Given the description of an element on the screen output the (x, y) to click on. 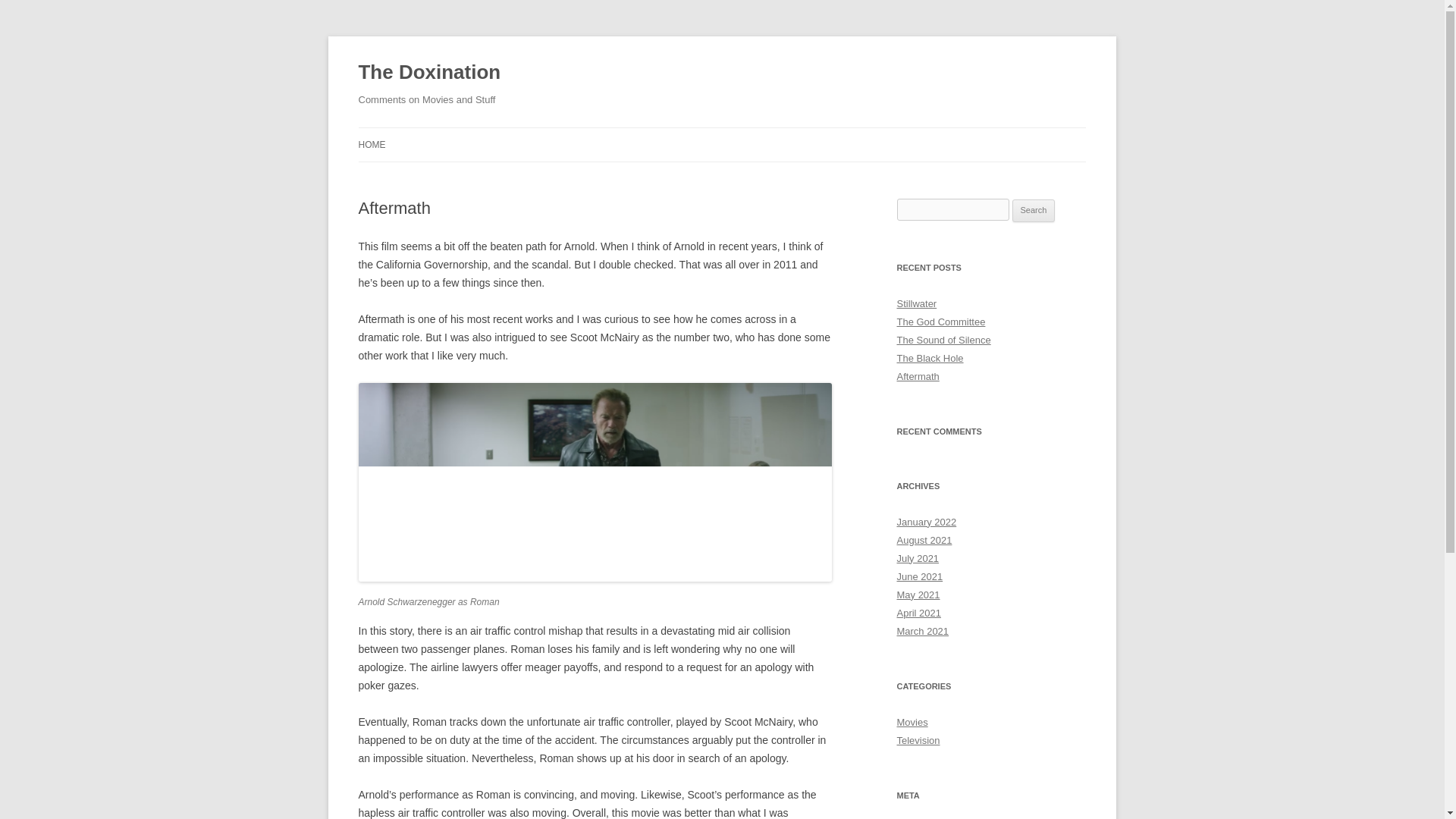
August 2021 (924, 540)
March 2021 (922, 631)
The Sound of Silence (943, 339)
Search (1033, 210)
Television (917, 740)
Aftermath (917, 376)
The Black Hole (929, 357)
Movies (911, 722)
HOME (371, 144)
January 2022 (926, 521)
June 2021 (919, 576)
The God Committee (940, 321)
Search (1033, 210)
July 2021 (917, 558)
The Doxination (429, 72)
